Given the description of an element on the screen output the (x, y) to click on. 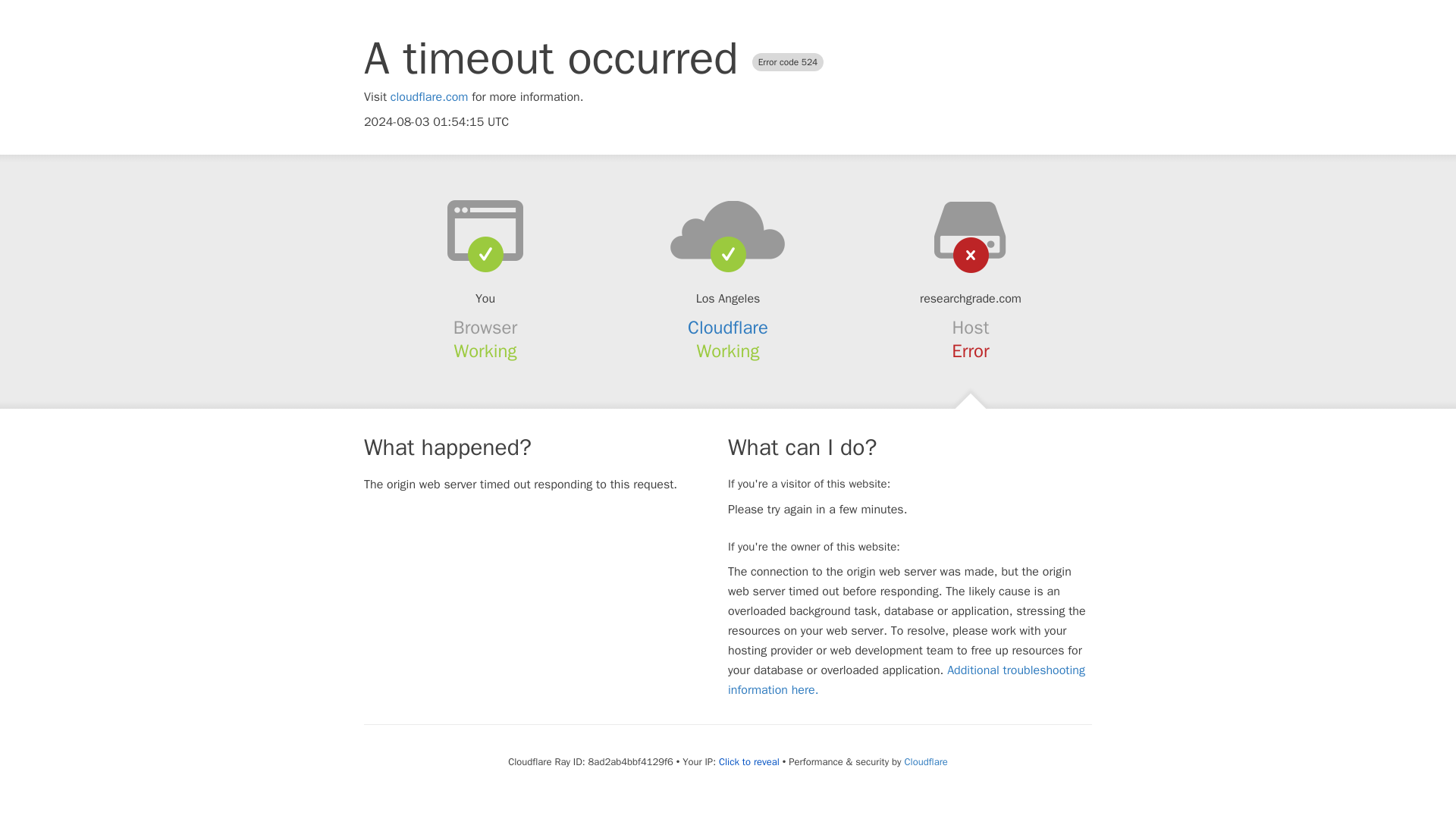
Cloudflare (727, 327)
Additional troubleshooting information here. (906, 679)
cloudflare.com (429, 96)
Cloudflare (925, 761)
Click to reveal (748, 762)
